Given the description of an element on the screen output the (x, y) to click on. 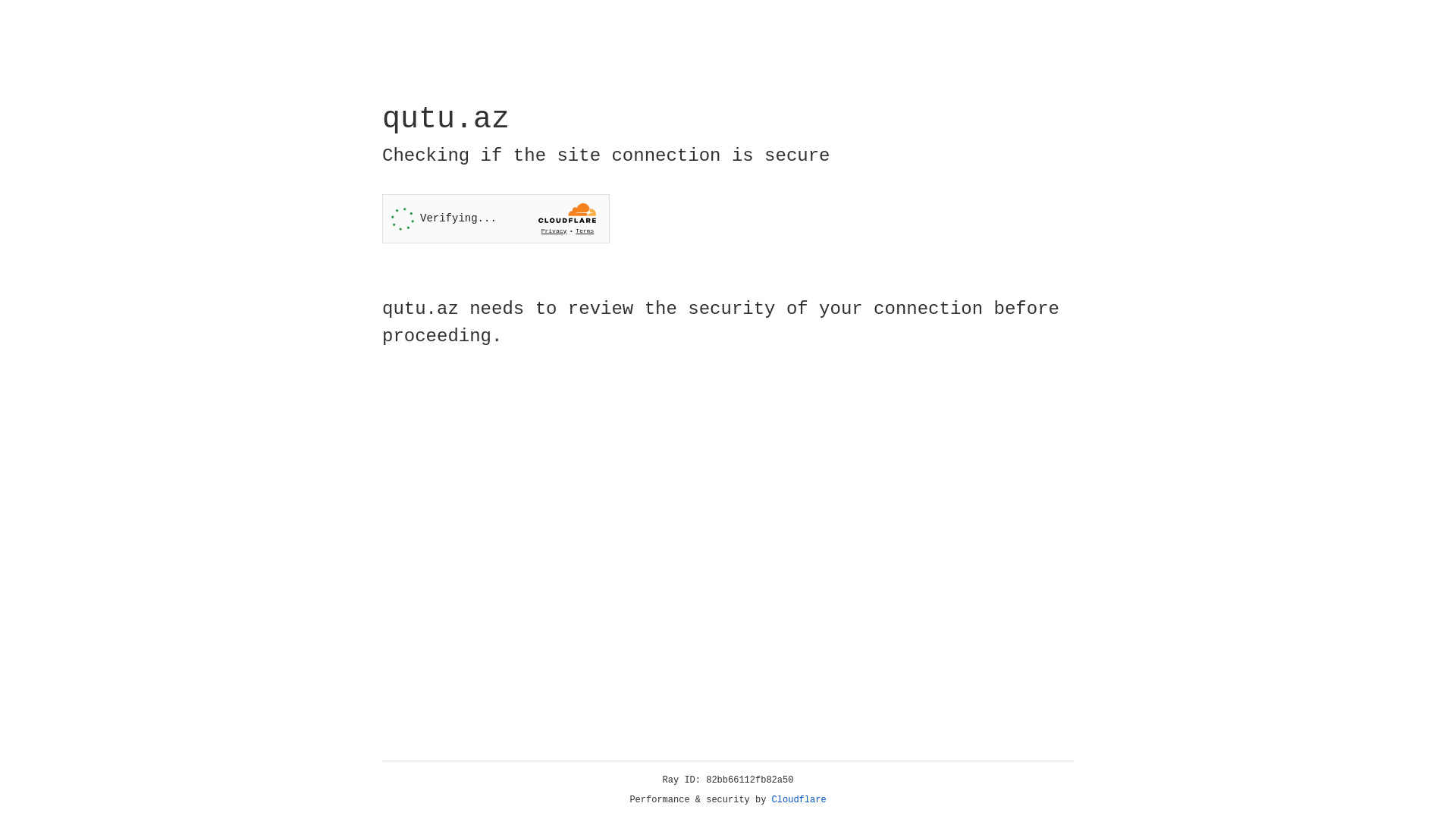
Cloudflare Element type: text (798, 799)
Widget containing a Cloudflare security challenge Element type: hover (495, 218)
